Given the description of an element on the screen output the (x, y) to click on. 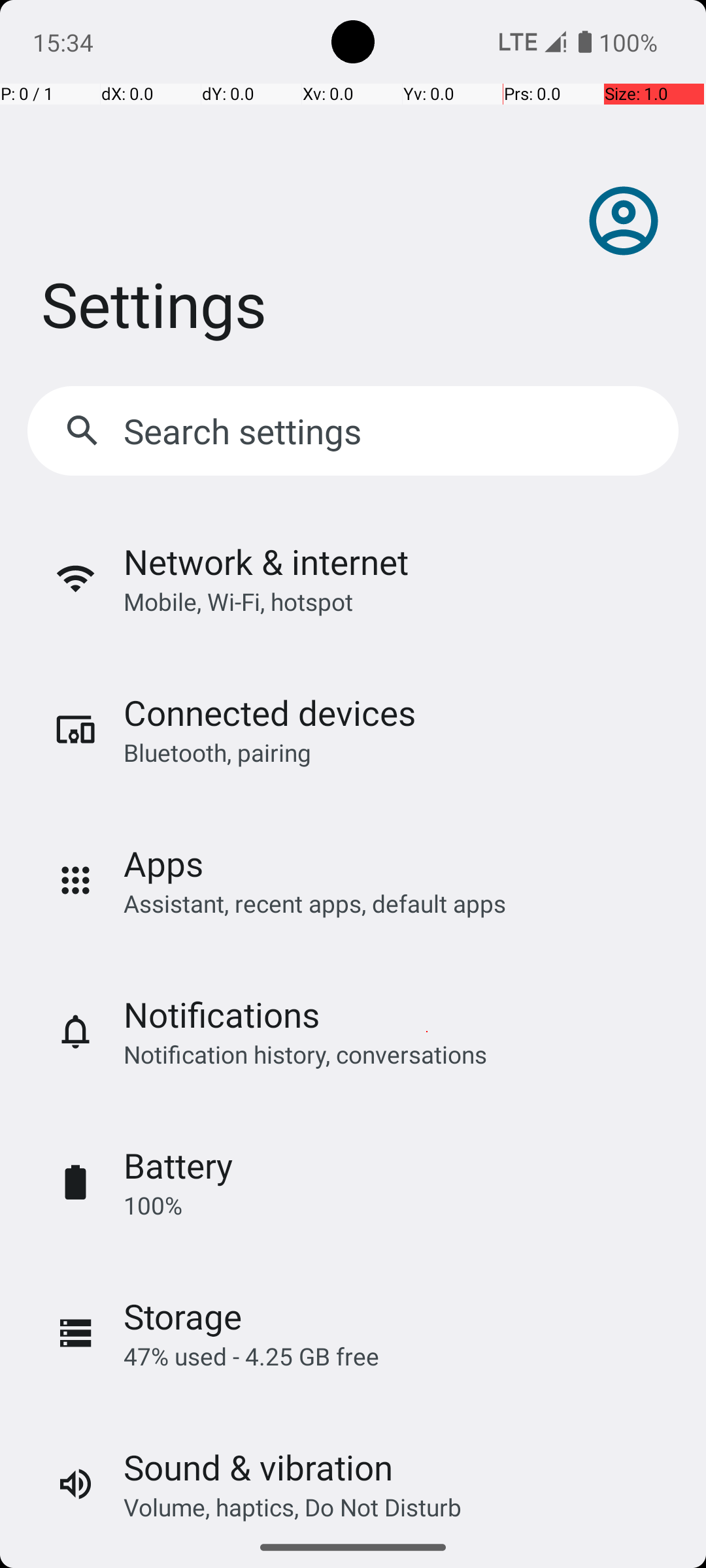
47% used - 4.25 GB free Element type: android.widget.TextView (251, 1355)
